Given the description of an element on the screen output the (x, y) to click on. 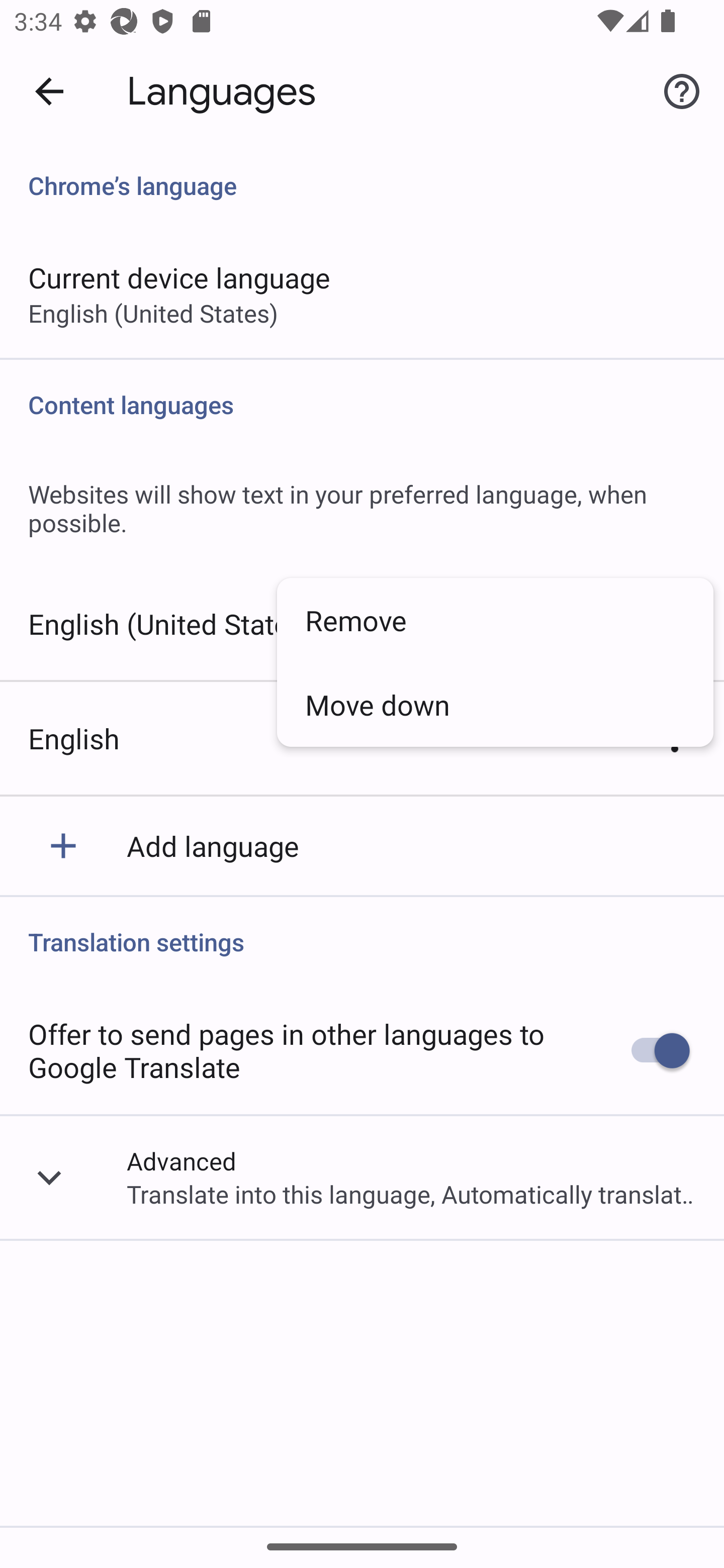
Remove (495, 619)
Move down (495, 703)
